Given the description of an element on the screen output the (x, y) to click on. 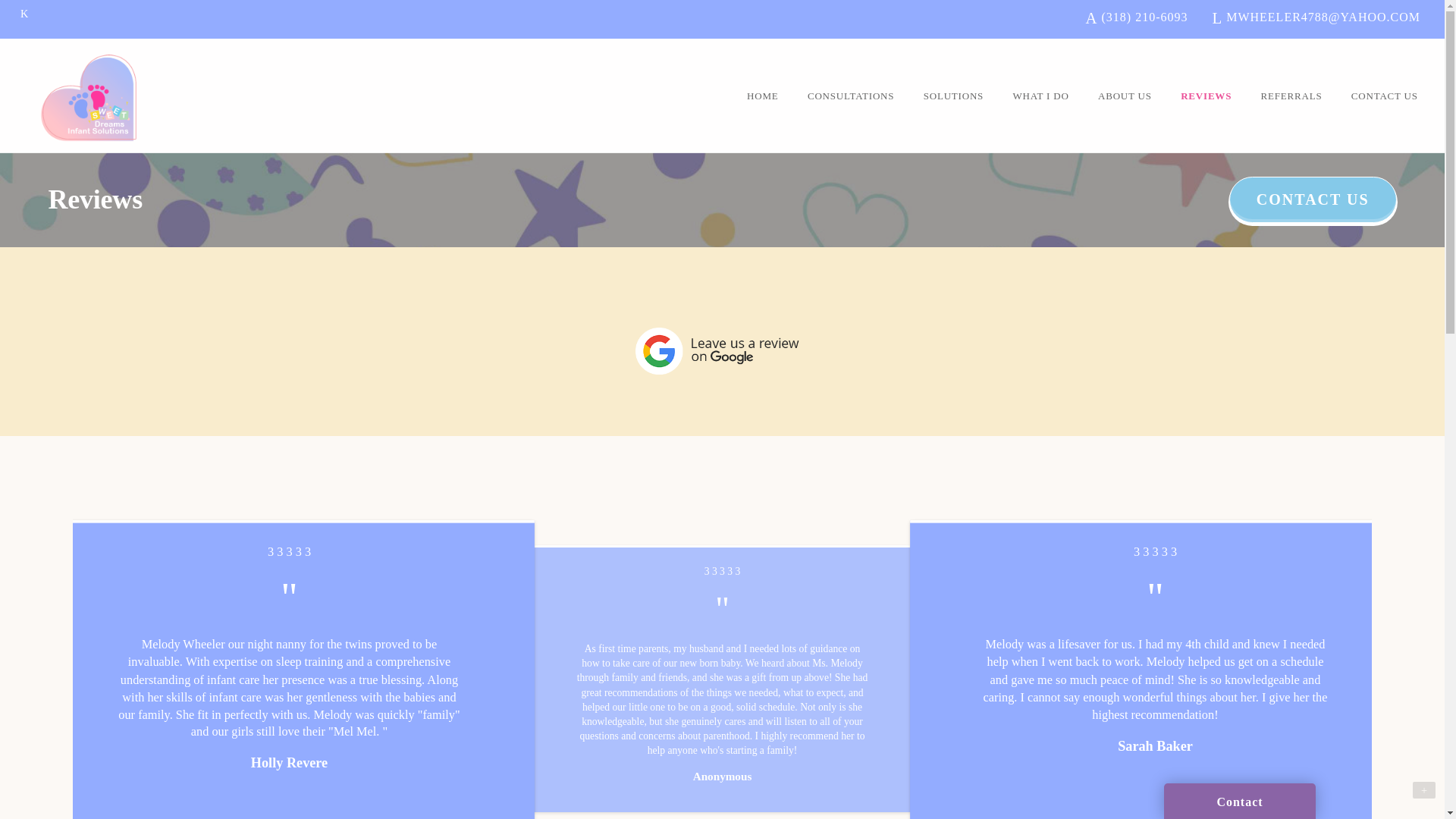
WHAT I DO (1040, 96)
ABOUT US (1124, 96)
REFERRALS (1291, 96)
5 (1125, 550)
REVIEWS (1205, 96)
Facebook (23, 13)
5 (260, 550)
CONSULTATIONS (850, 96)
Sweet Dreams Infant Solutions (92, 96)
HOME (762, 96)
CONTACT US (1384, 96)
SOLUTIONS (953, 96)
5 (721, 571)
